Given the description of an element on the screen output the (x, y) to click on. 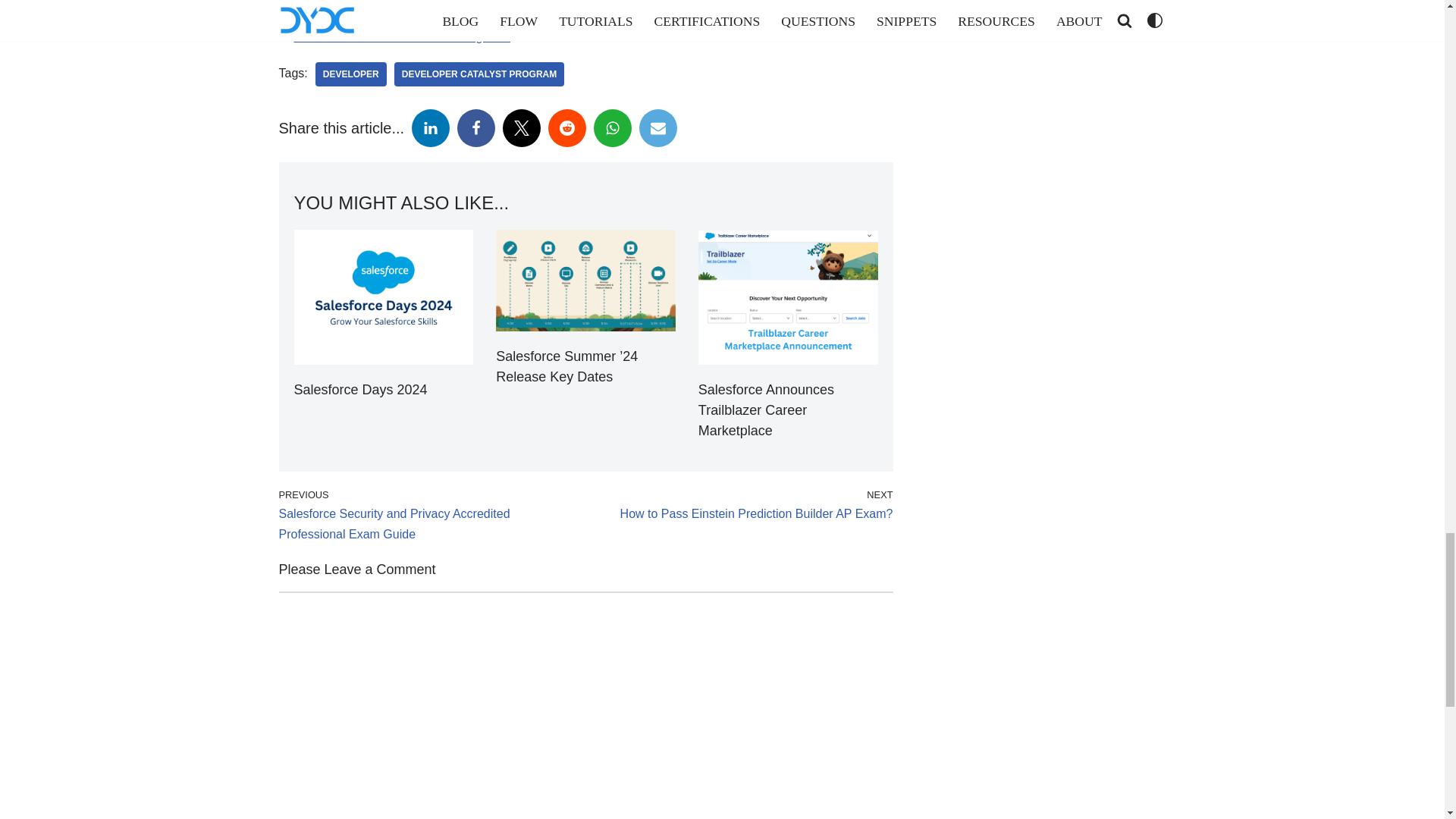
Email (658, 127)
What is Salesforce Pathfinder Program? (402, 36)
Facebook (476, 127)
Developer Catalyst Program (479, 74)
Developer (351, 74)
Twitter (521, 127)
